Given the description of an element on the screen output the (x, y) to click on. 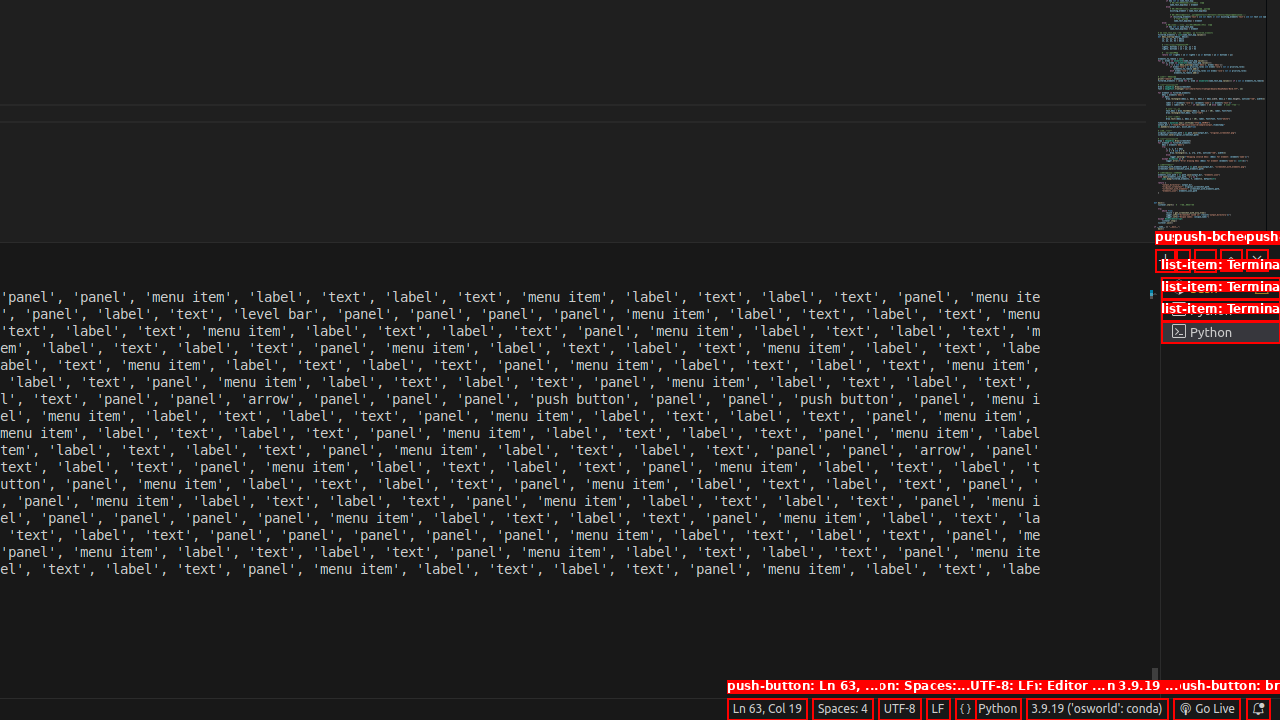
3.9.19 ('osworld': conda), ~/anaconda3/envs/osworld/bin/python Element type: push-button (1097, 709)
Terminal 1 bash Element type: list-item (1220, 288)
Editor Language Status: Auto Import Completions: false, next: Type Checking: off Element type: push-button (965, 709)
Ln 63, Col 19 Element type: push-button (767, 709)
Hide Panel Element type: push-button (1257, 260)
